Given the description of an element on the screen output the (x, y) to click on. 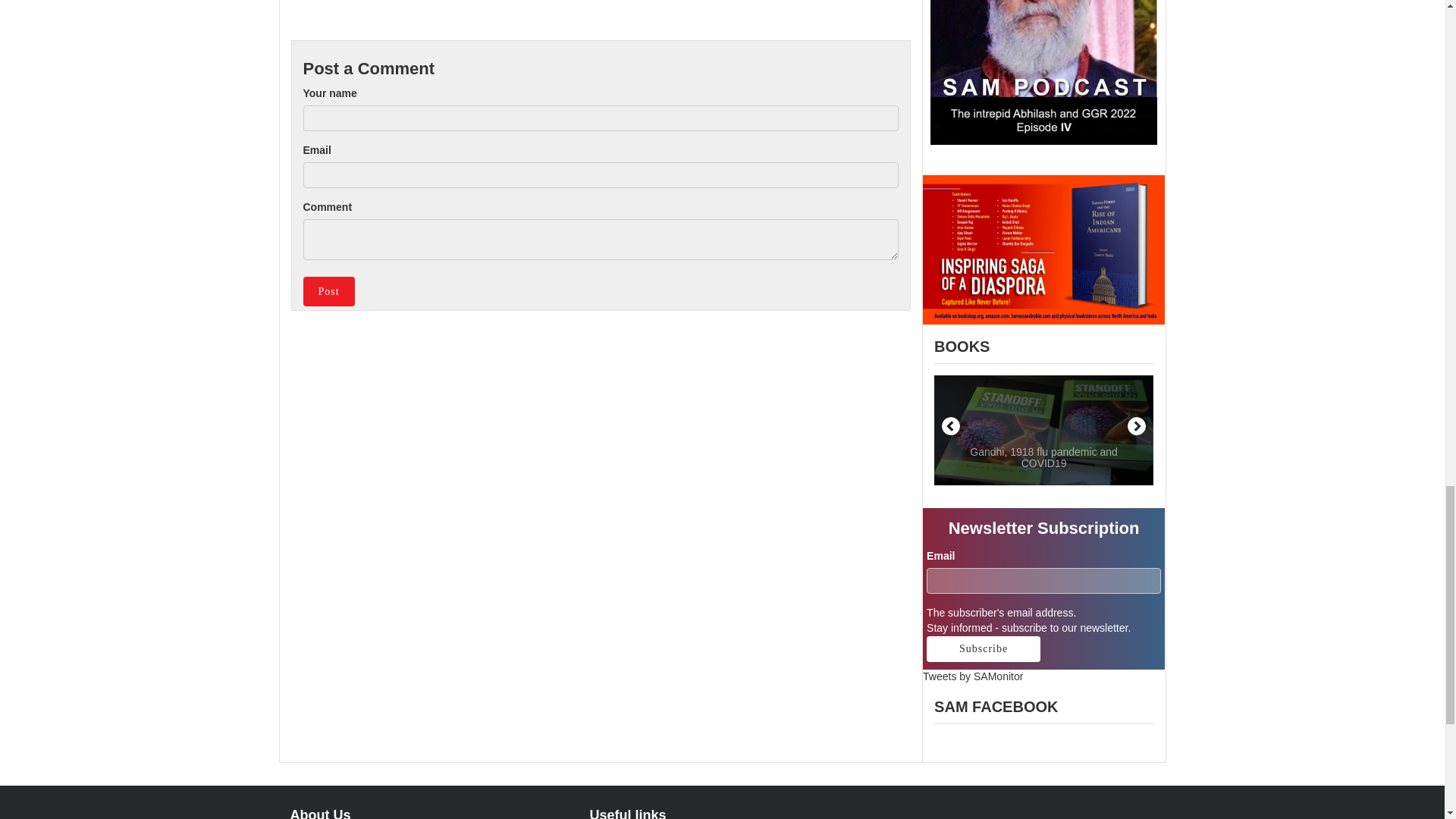
The intrepid Abhilash and GGR 2022-Part IV (1043, 72)
Post (328, 291)
Subscribe (983, 648)
